Given the description of an element on the screen output the (x, y) to click on. 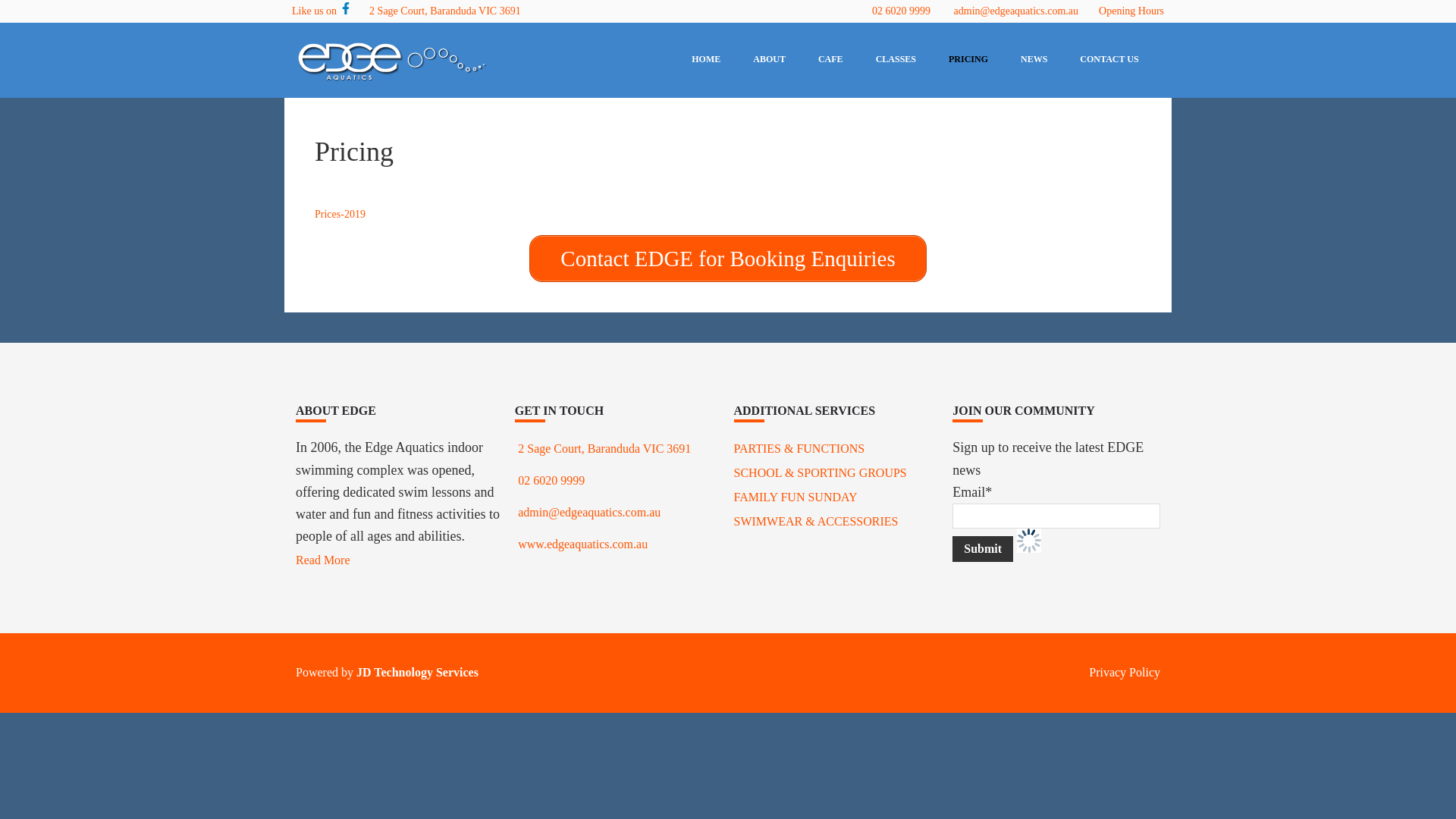
admin@edgeaquatics.com.au Element type: text (588, 511)
2 Sage Court, Baranduda VIC 3691   Element type: text (447, 10)
admin@edgeaquatics.com.au Element type: text (1016, 10)
CAFE Element type: text (830, 59)
CLASSES Element type: text (895, 59)
SWIMWEAR & ACCESSORIES Element type: text (816, 520)
PRICING Element type: text (968, 59)
www.edgeaquatics.com.au Element type: text (582, 543)
Like us on  Element type: text (321, 10)
ABOUT Element type: text (768, 59)
NEWS Element type: text (1033, 59)
Skip to primary navigation Element type: text (0, 0)
Submit Element type: text (982, 548)
Privacy Policy Element type: text (1124, 671)
Contact EDGE for Booking Enquiries Element type: text (727, 258)
JD Technology Services Element type: text (417, 671)
CONTACT US Element type: text (1108, 59)
Read More Element type: text (322, 559)
Prices-2019 Element type: text (339, 213)
02 6020 9999 Element type: text (901, 10)
HOME Element type: text (705, 59)
02 6020 9999 Element type: text (550, 479)
2 Sage Court, Baranduda VIC 3691 Element type: text (603, 448)
FAMILY FUN SUNDAY Element type: text (795, 496)
Opening Hours Element type: text (1131, 10)
SCHOOL & SPORTING GROUPS Element type: text (820, 472)
PARTIES & FUNCTIONS Element type: text (799, 448)
